Given the description of an element on the screen output the (x, y) to click on. 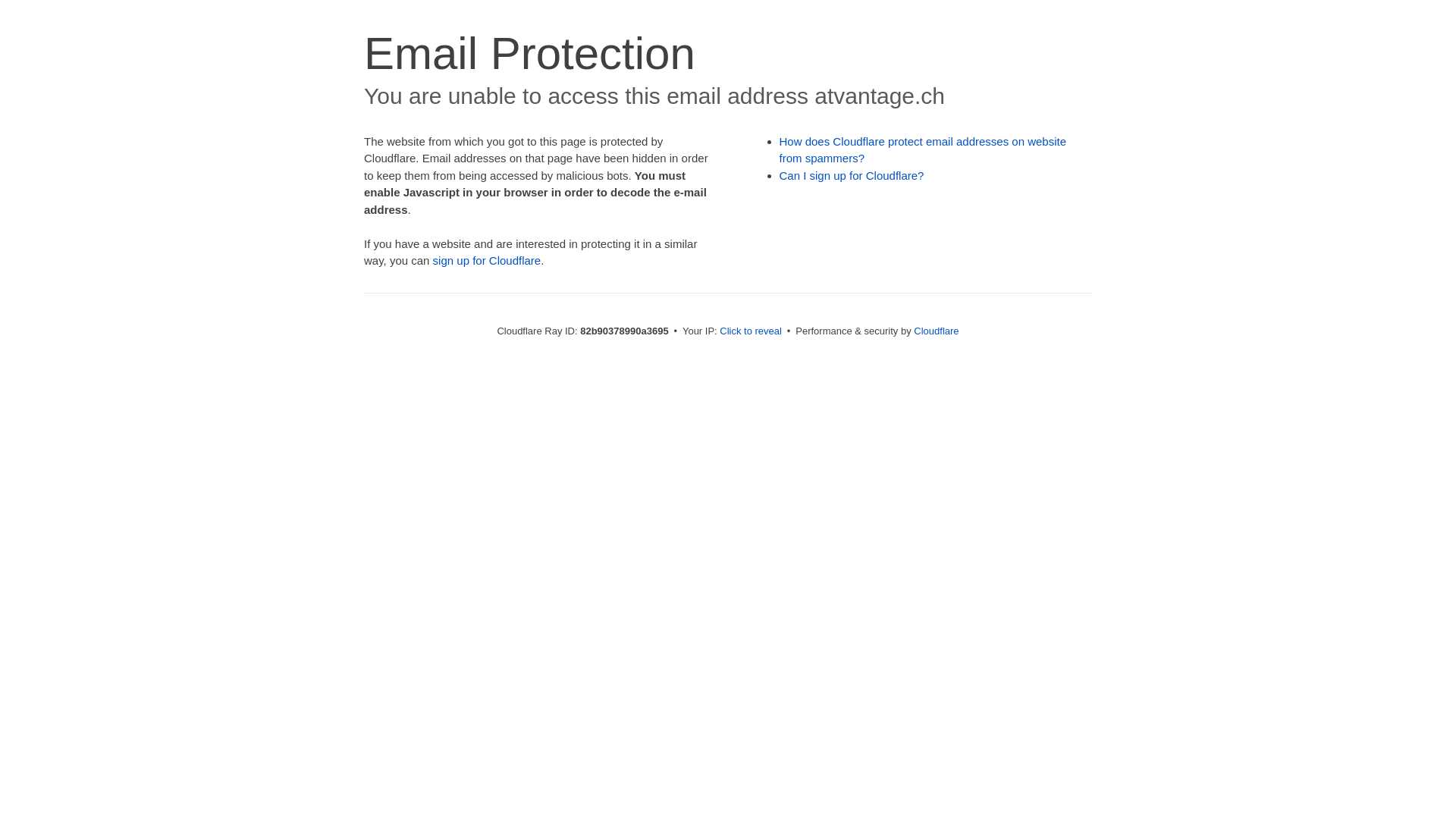
Click to reveal Element type: text (750, 330)
sign up for Cloudflare Element type: text (487, 260)
Cloudflare Element type: text (935, 330)
Can I sign up for Cloudflare? Element type: text (851, 175)
